Given the description of an element on the screen output the (x, y) to click on. 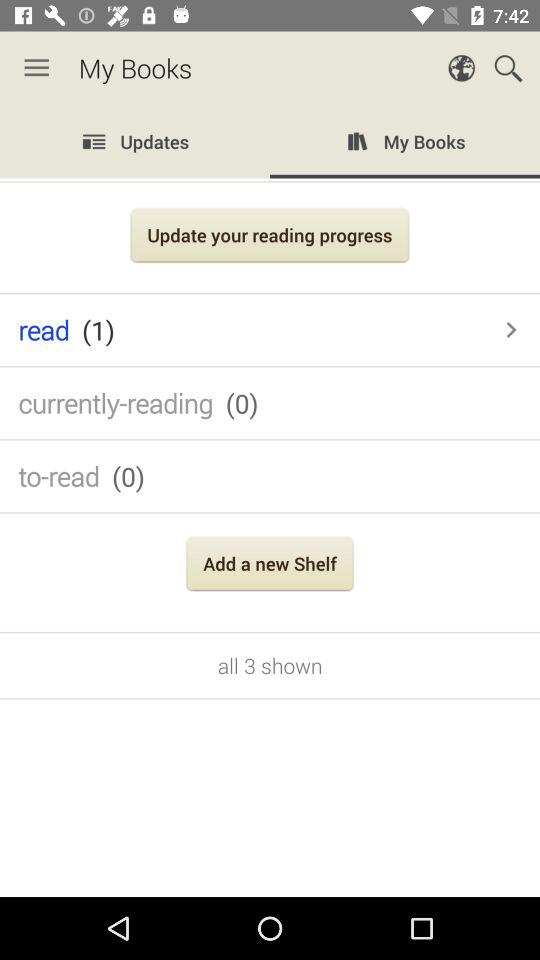
tap icon above add a new icon (269, 476)
